Given the description of an element on the screen output the (x, y) to click on. 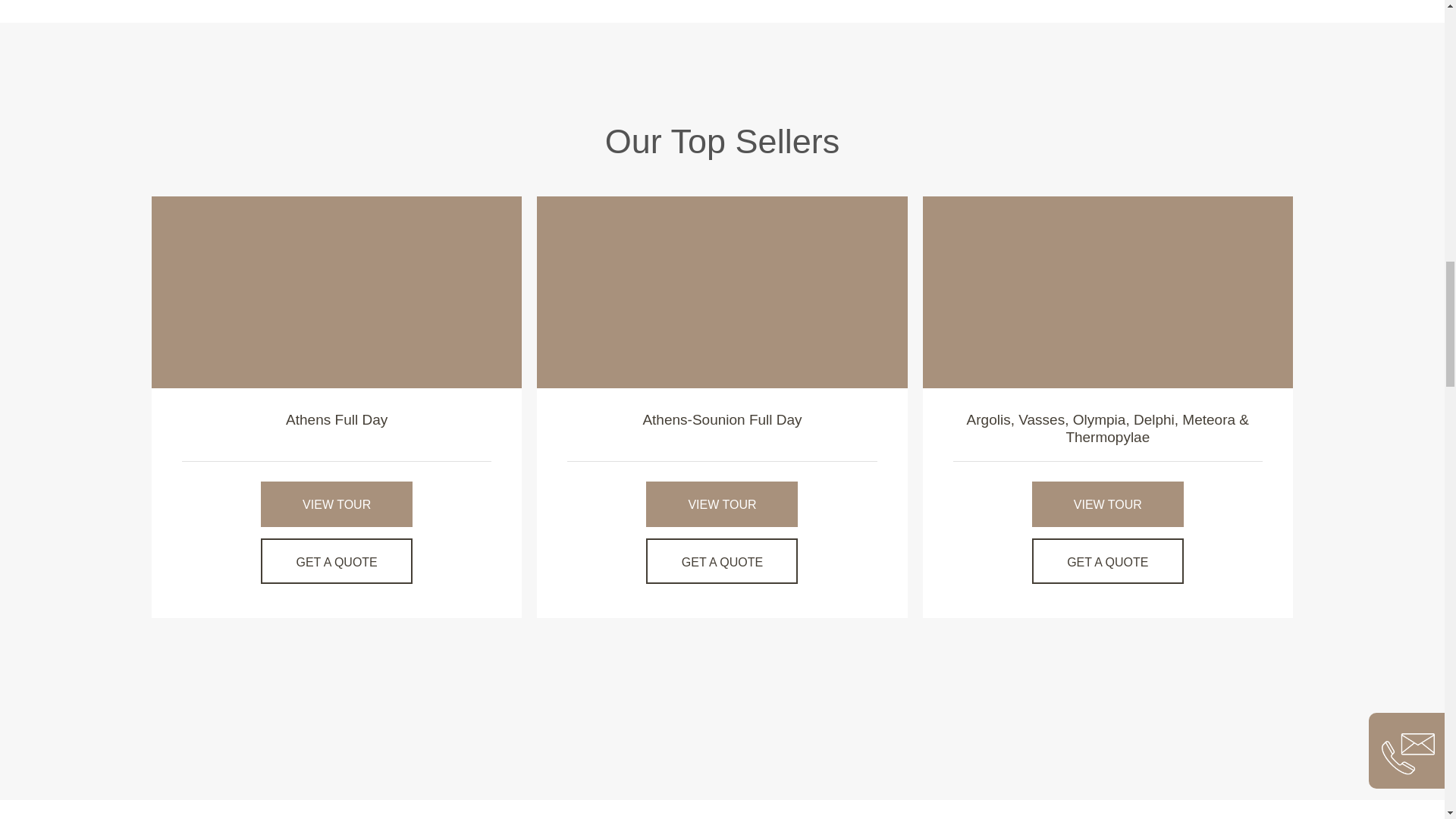
Athens Full Day (336, 419)
GET A QUOTE (721, 560)
VIEW TOUR (336, 504)
Athens Full Day (336, 291)
Athens-Sounion Full Day (722, 419)
GET A QUOTE (336, 560)
GET A QUOTE (1107, 560)
VIEW TOUR (1107, 504)
VIEW TOUR (721, 504)
Athens-Sounion Full Day (722, 419)
Athens-Sounion Full Day (722, 291)
Athens Full Day (336, 419)
